Given the description of an element on the screen output the (x, y) to click on. 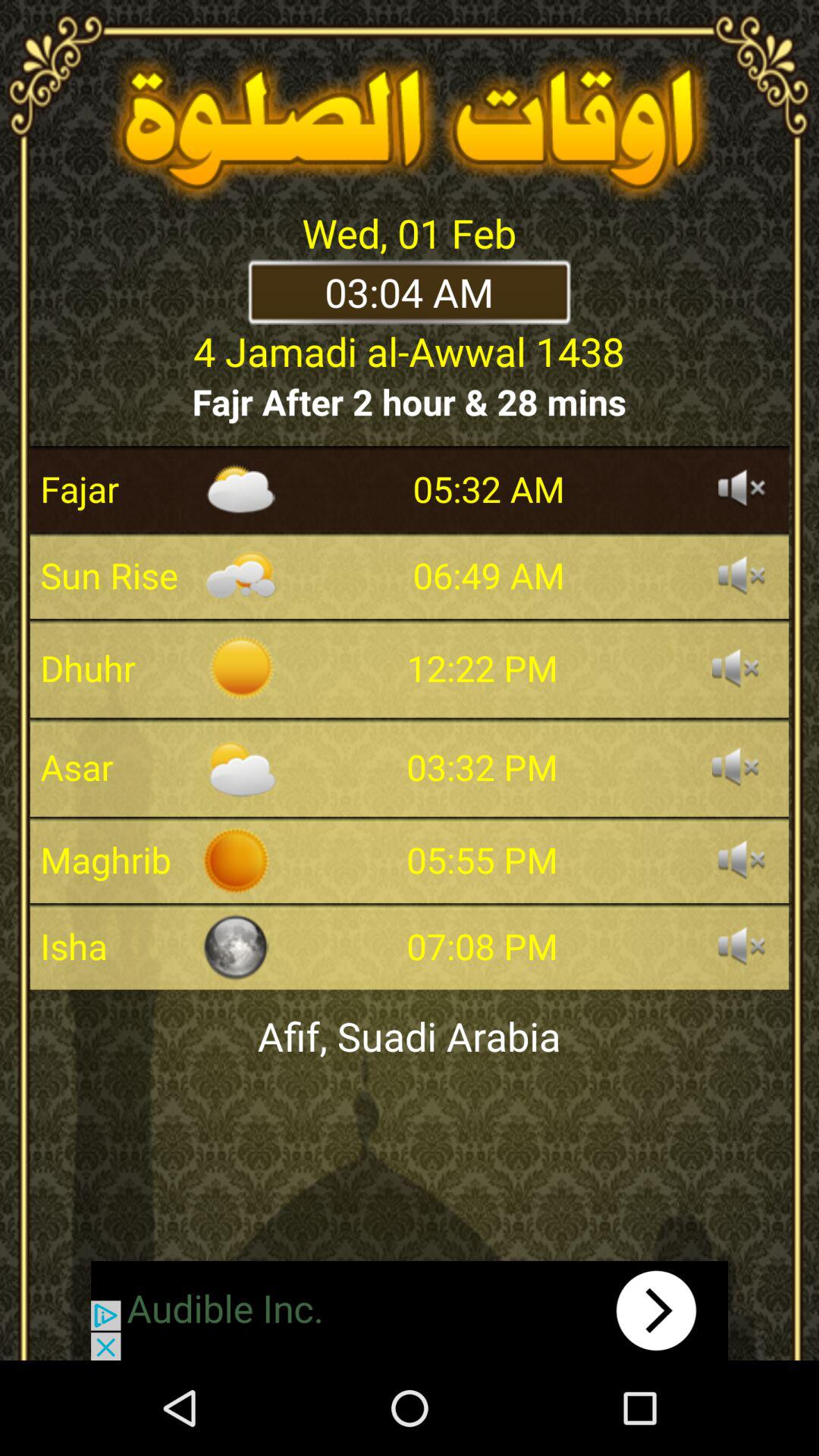
unmute sound (735, 668)
